Given the description of an element on the screen output the (x, y) to click on. 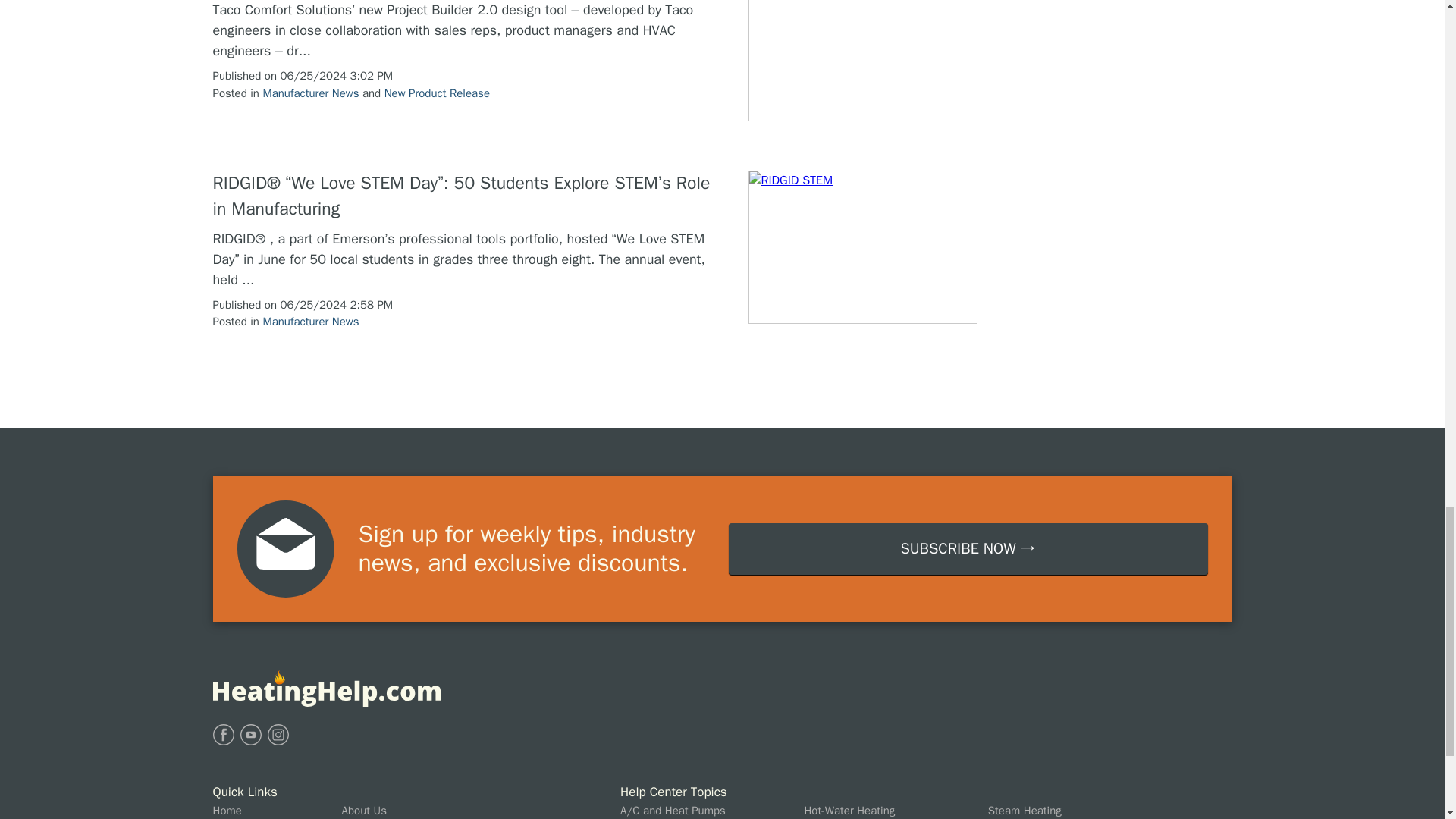
New Product Release (436, 92)
Manufacturer News (310, 321)
Manufacturer News (310, 92)
